Given the description of an element on the screen output the (x, y) to click on. 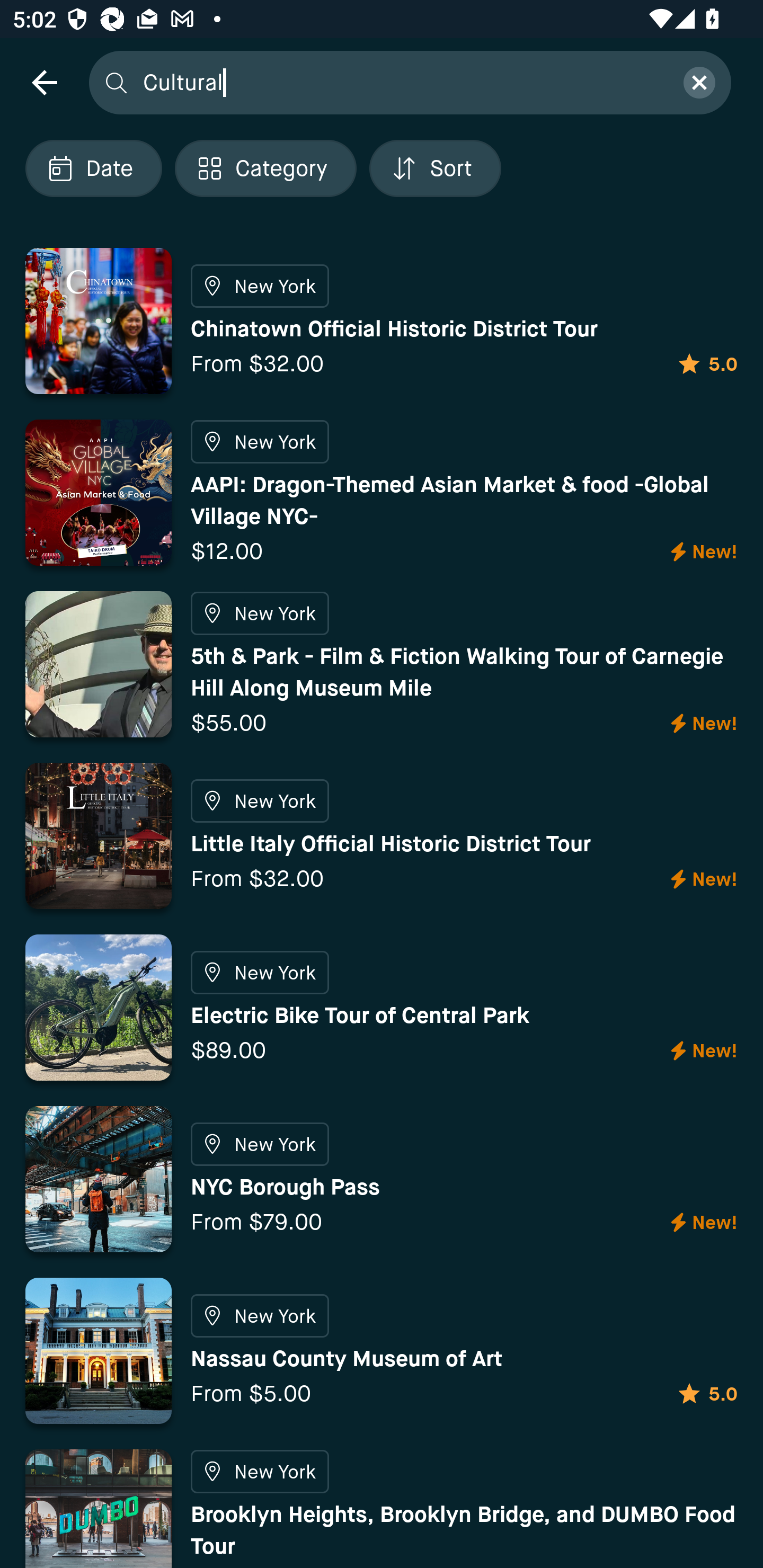
navigation icon (44, 81)
Cultural (402, 81)
Localized description Date (93, 168)
Localized description Category (265, 168)
Localized description Sort (435, 168)
